Given the description of an element on the screen output the (x, y) to click on. 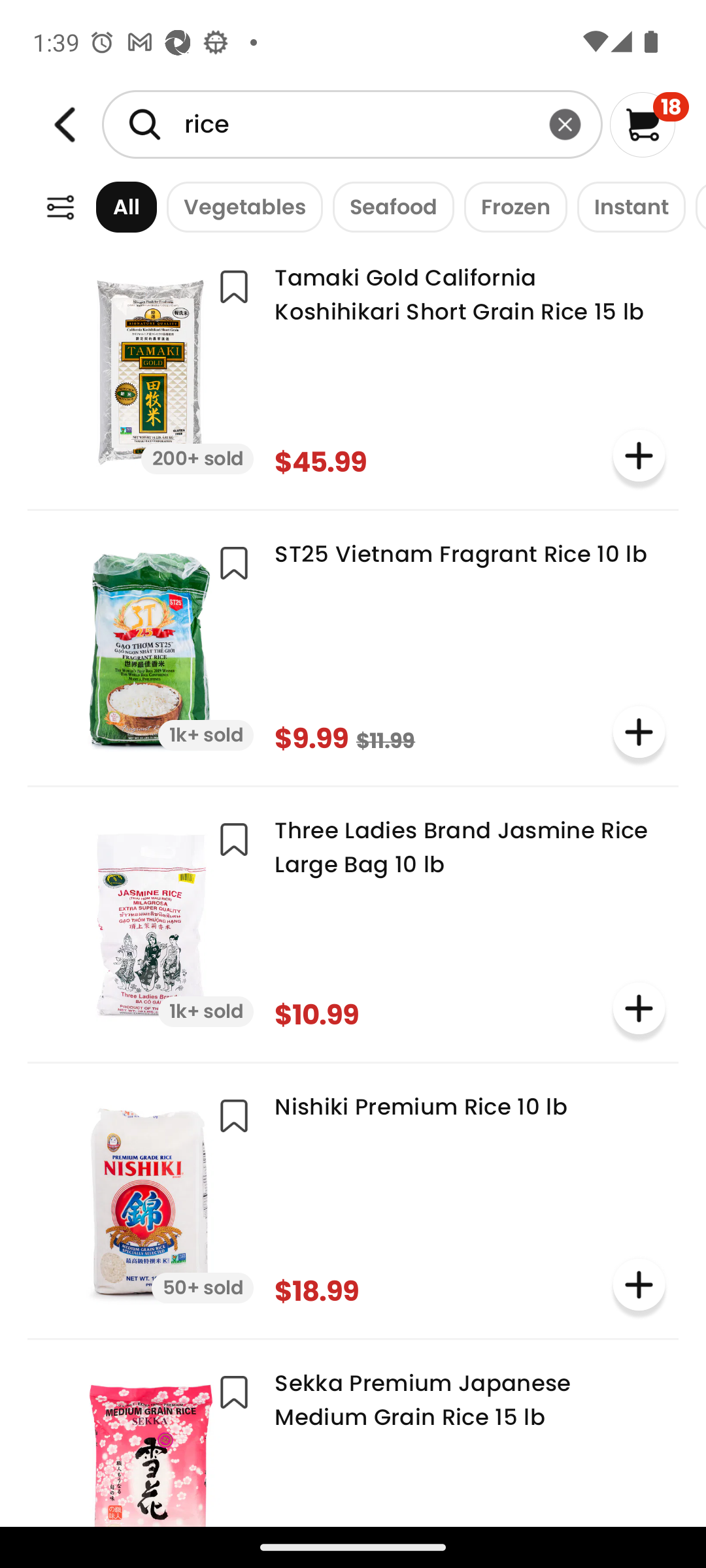
rice (351, 124)
18 (649, 124)
Weee! (60, 207)
All (108, 206)
Vegetables (239, 206)
Seafood (388, 206)
Frozen (510, 206)
Instant (626, 206)
Nishiki Premium Rice 10 lb 50+ sold $18.99 (352, 1198)
Sekka Premium Japanese Medium Grain Rice 15 lb (352, 1440)
